Given the description of an element on the screen output the (x, y) to click on. 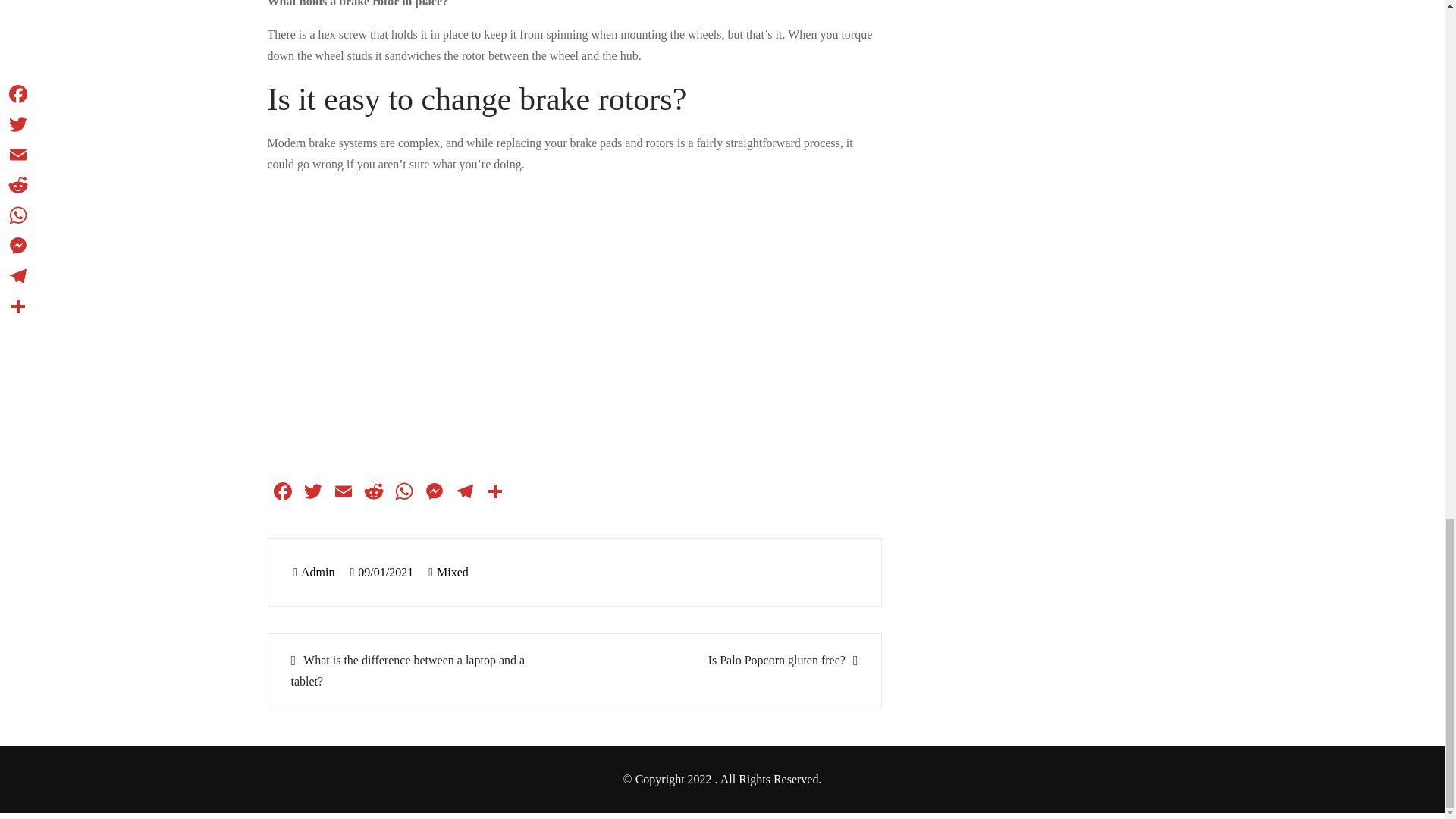
Messenger (433, 492)
WhatsApp (403, 492)
Reddit (373, 492)
Email (342, 492)
Telegram (463, 492)
Messenger (433, 492)
Mixed (452, 571)
Facebook (281, 492)
Telegram (463, 492)
Email (342, 492)
